Given the description of an element on the screen output the (x, y) to click on. 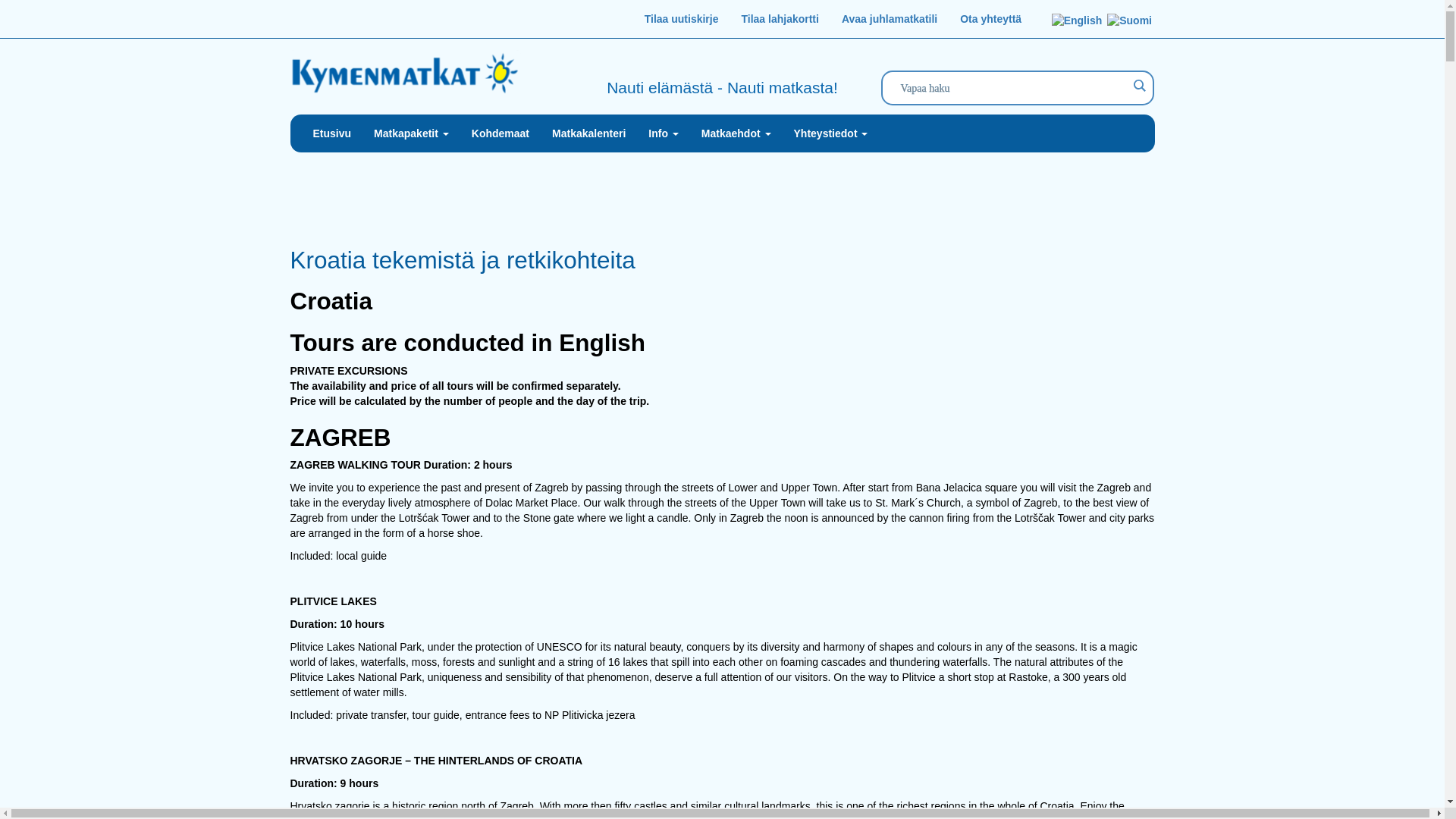
Info (663, 133)
Suomi (1128, 20)
Kohdemaat (500, 133)
Matkapaketit (411, 133)
Tilaa lahjakortti (779, 18)
Avaa juhlamatkatili (889, 18)
Matkakalenteri (588, 133)
English (1076, 20)
Etusivu (331, 133)
Tilaa uutiskirje (681, 18)
